Given the description of an element on the screen output the (x, y) to click on. 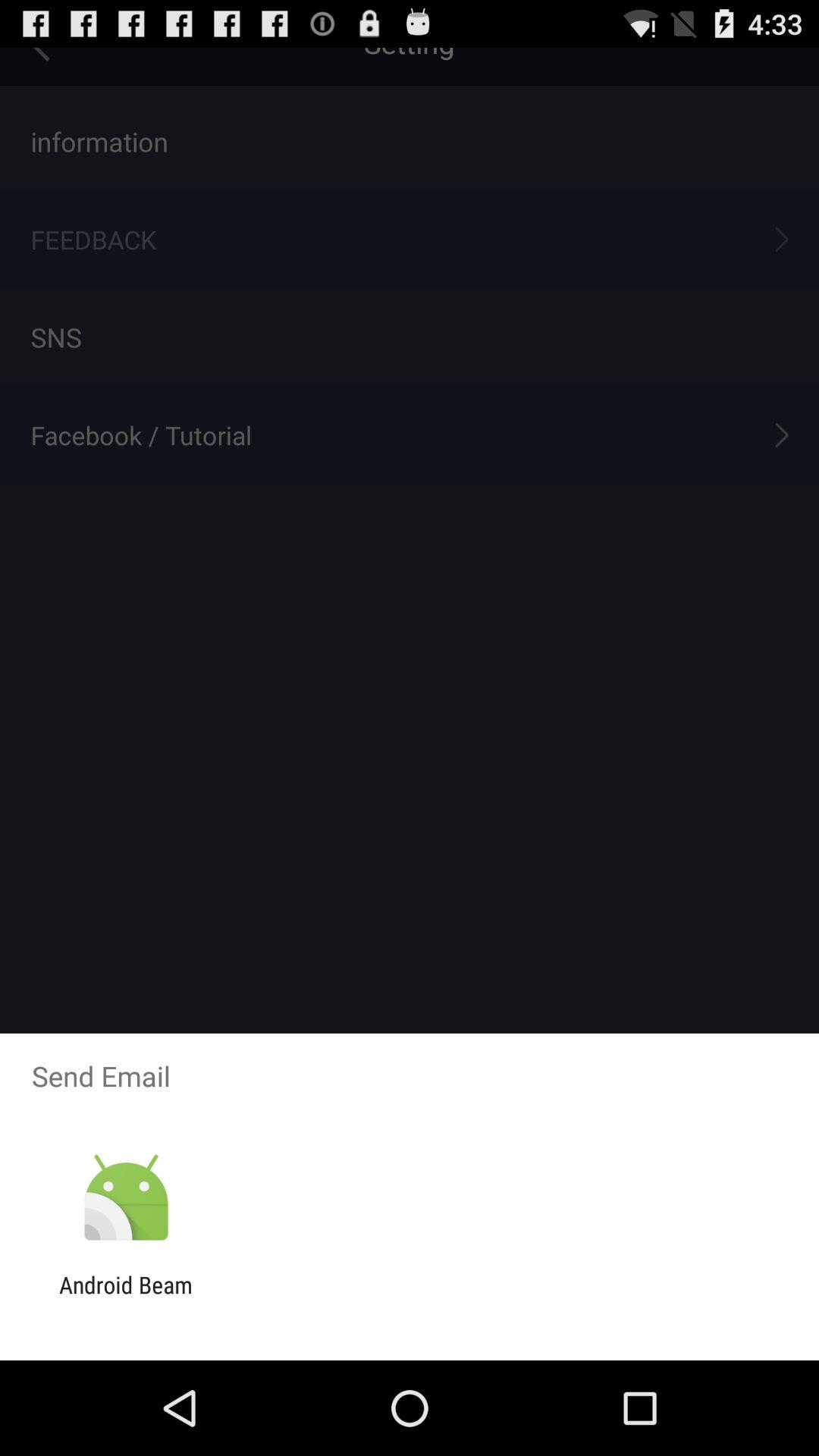
choose icon above the android beam item (126, 1198)
